Given the description of an element on the screen output the (x, y) to click on. 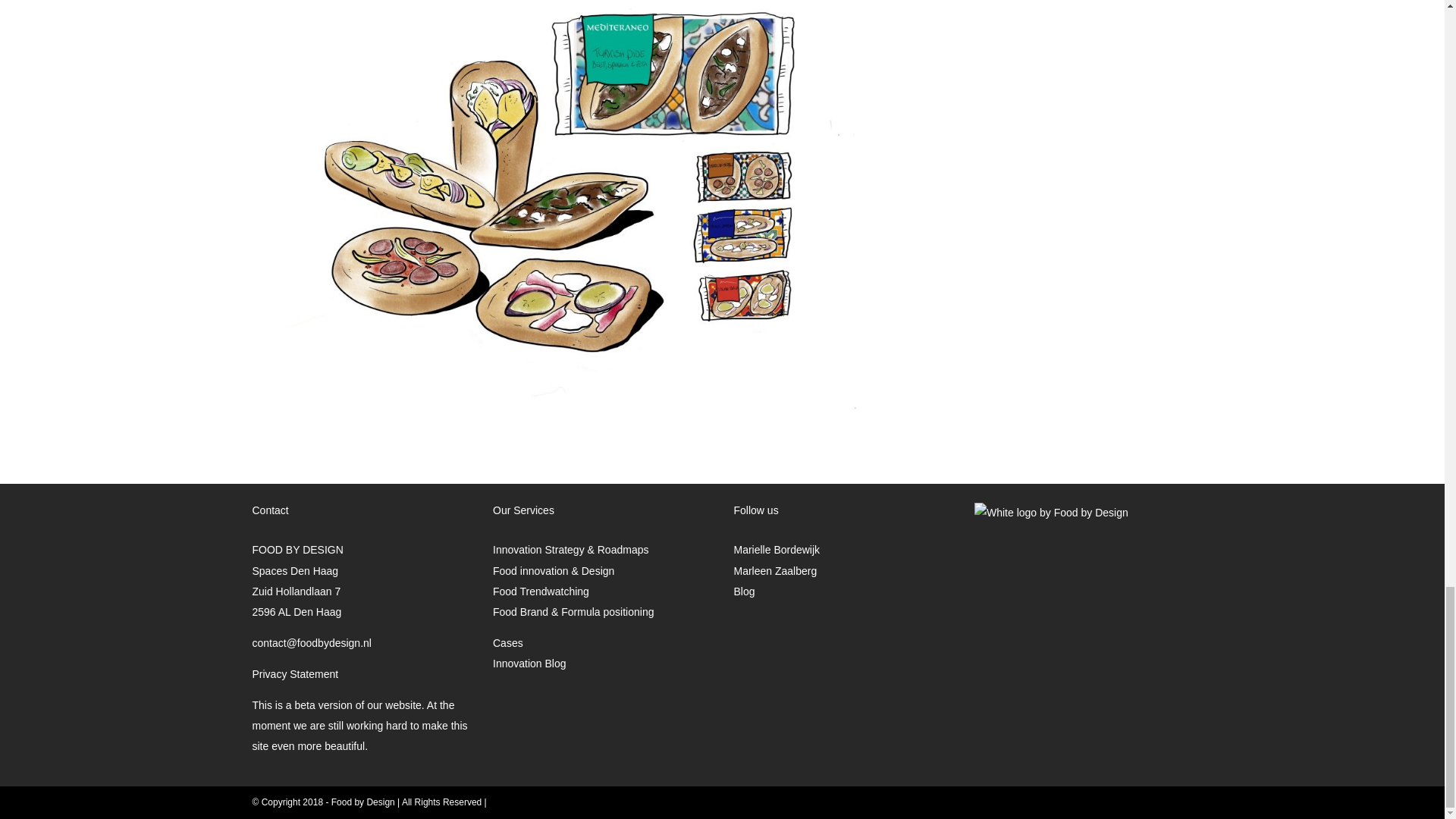
Marleen Zaalberg (774, 570)
Privacy Statement (294, 674)
Blog (744, 591)
Cases (507, 643)
Marielle Bordewijk (777, 549)
Innovation Blog (529, 663)
Food Trendwatching (541, 591)
